Given the description of an element on the screen output the (x, y) to click on. 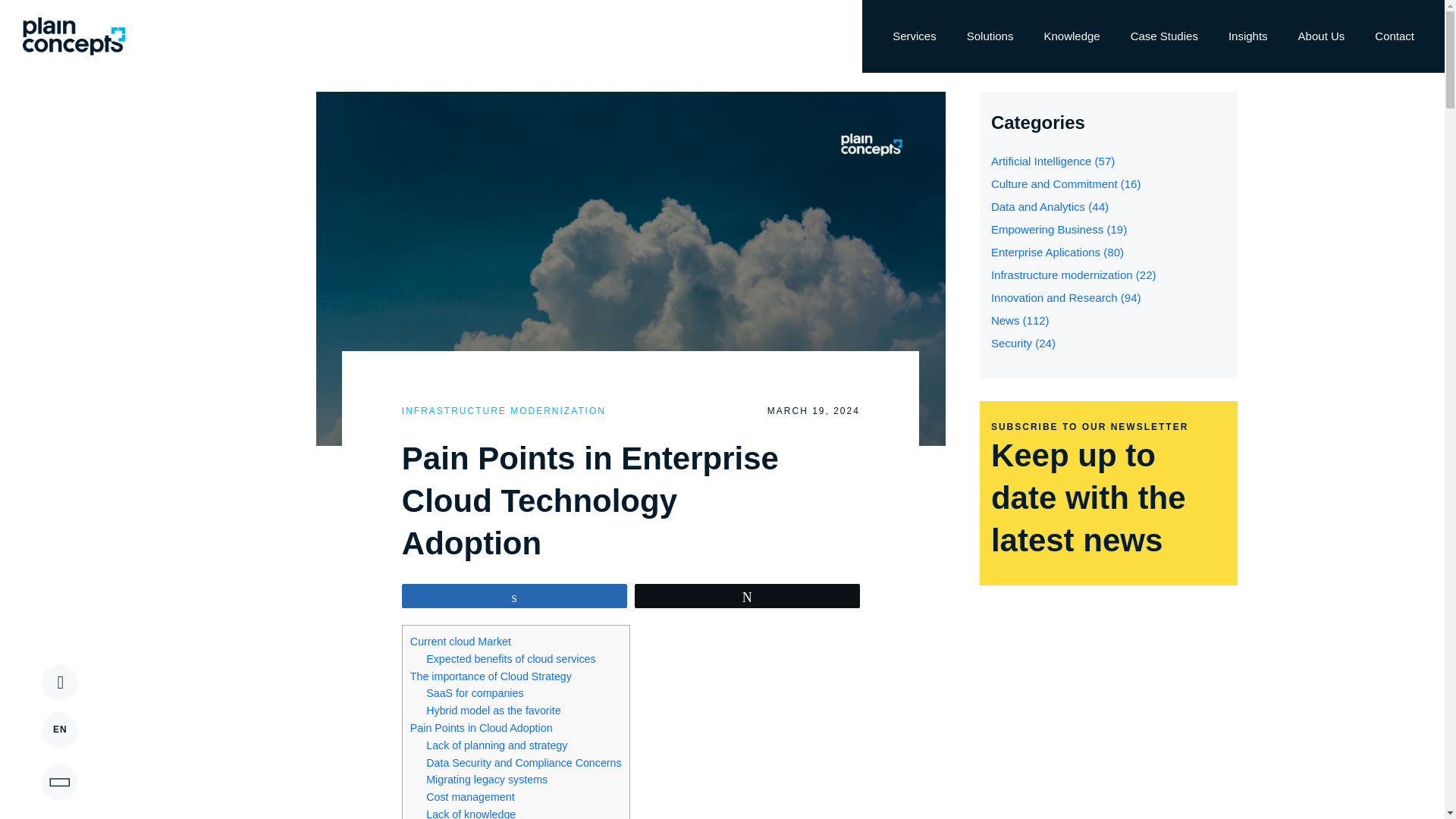
Solutions (990, 36)
Knowledge (1071, 36)
Services (914, 36)
Case Studies (1163, 36)
Insights (1247, 36)
About Us (1320, 36)
